Given the description of an element on the screen output the (x, y) to click on. 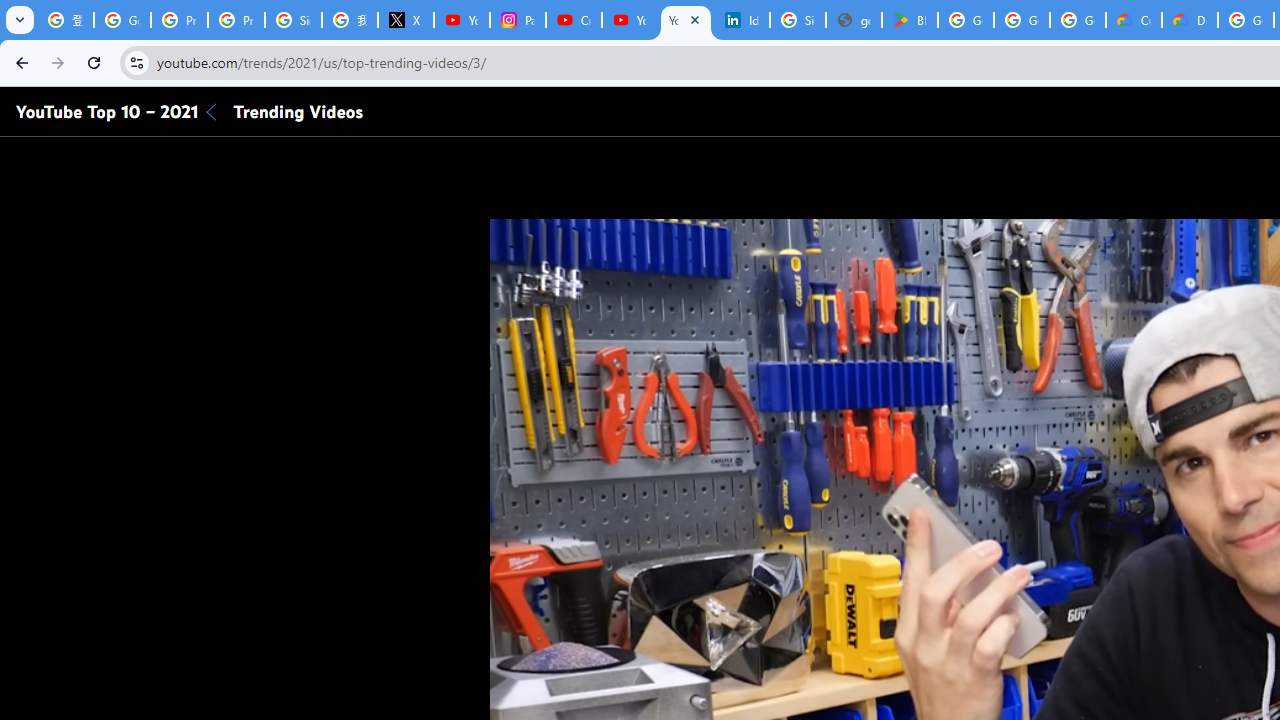
Privacy Help Center - Policies Help (235, 20)
Customer Care | Google Cloud (1133, 20)
Bluey: Let's Play! - Apps on Google Play (909, 20)
Google Workspace - Specific Terms (1021, 20)
Privacy Help Center - Policies Help (179, 20)
Sign in - Google Accounts (293, 20)
YouTube Culture & Trends - YouTube Top 10, 2021 (685, 20)
